Given the description of an element on the screen output the (x, y) to click on. 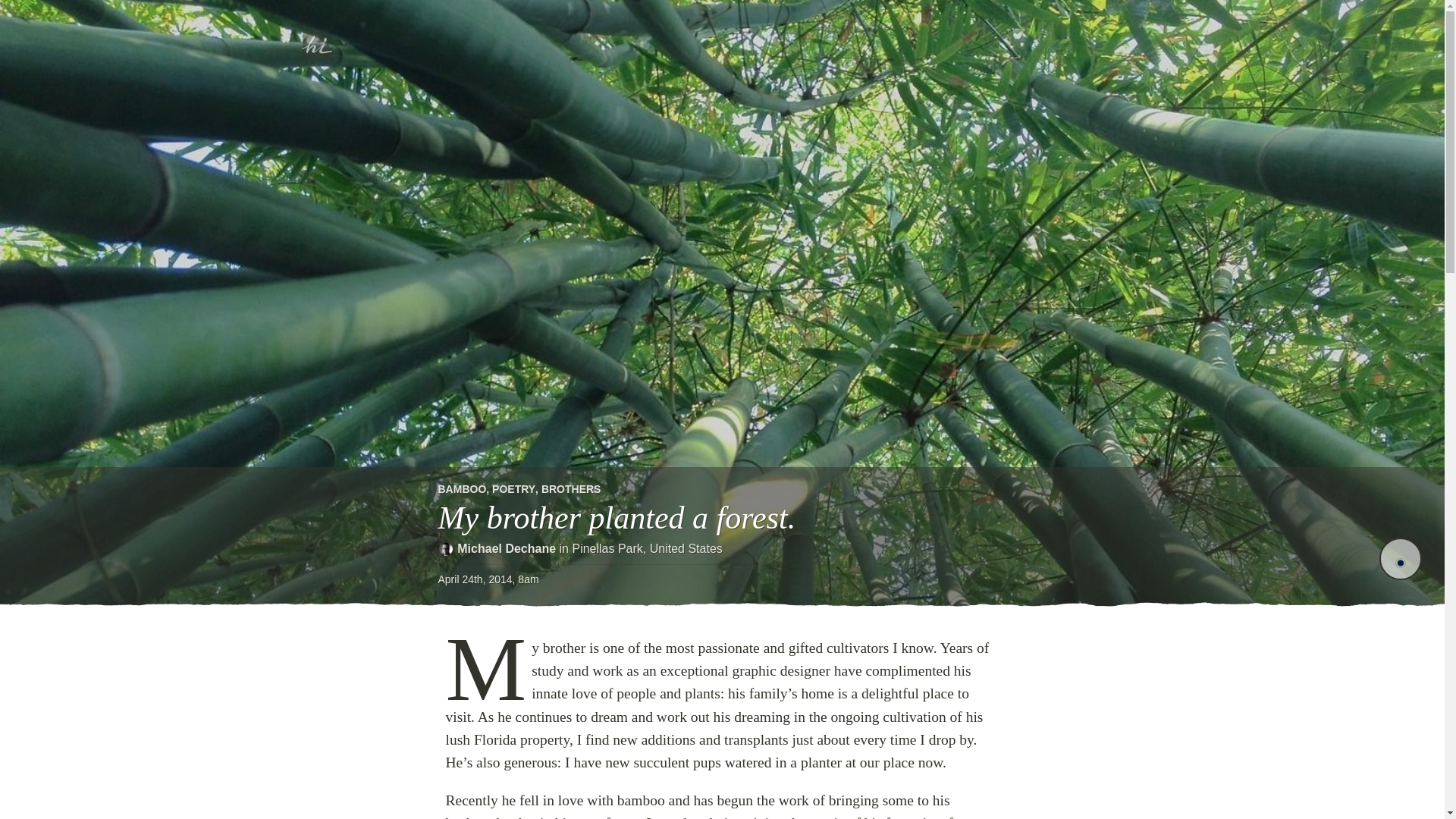
Michael Dechane (506, 548)
POETRY (513, 489)
BROTHERS (571, 489)
Pinellas Park, United States (647, 548)
BAMBOO (462, 489)
